Given the description of an element on the screen output the (x, y) to click on. 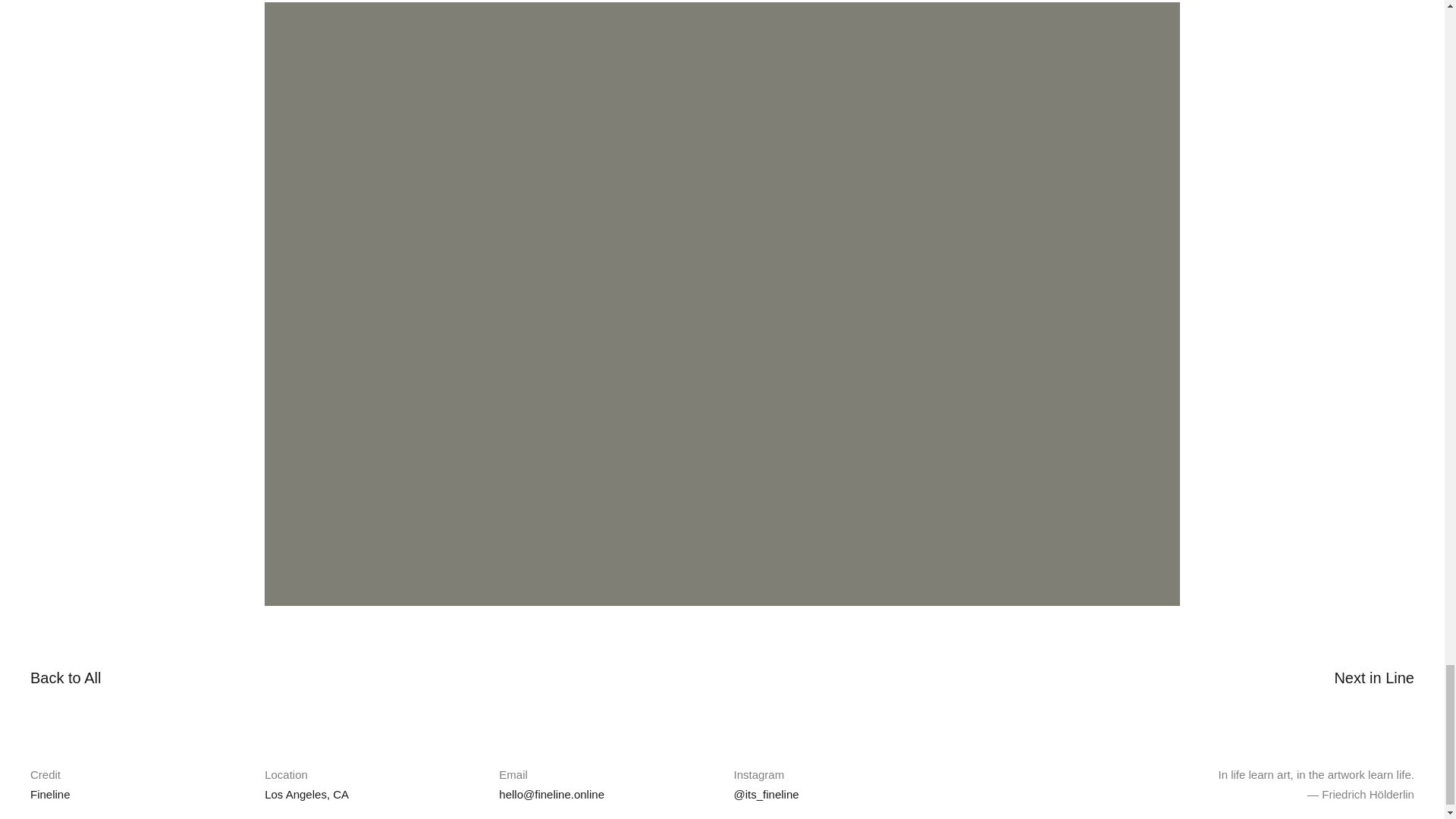
Next in Line (1373, 677)
Back to All (65, 677)
